Given the description of an element on the screen output the (x, y) to click on. 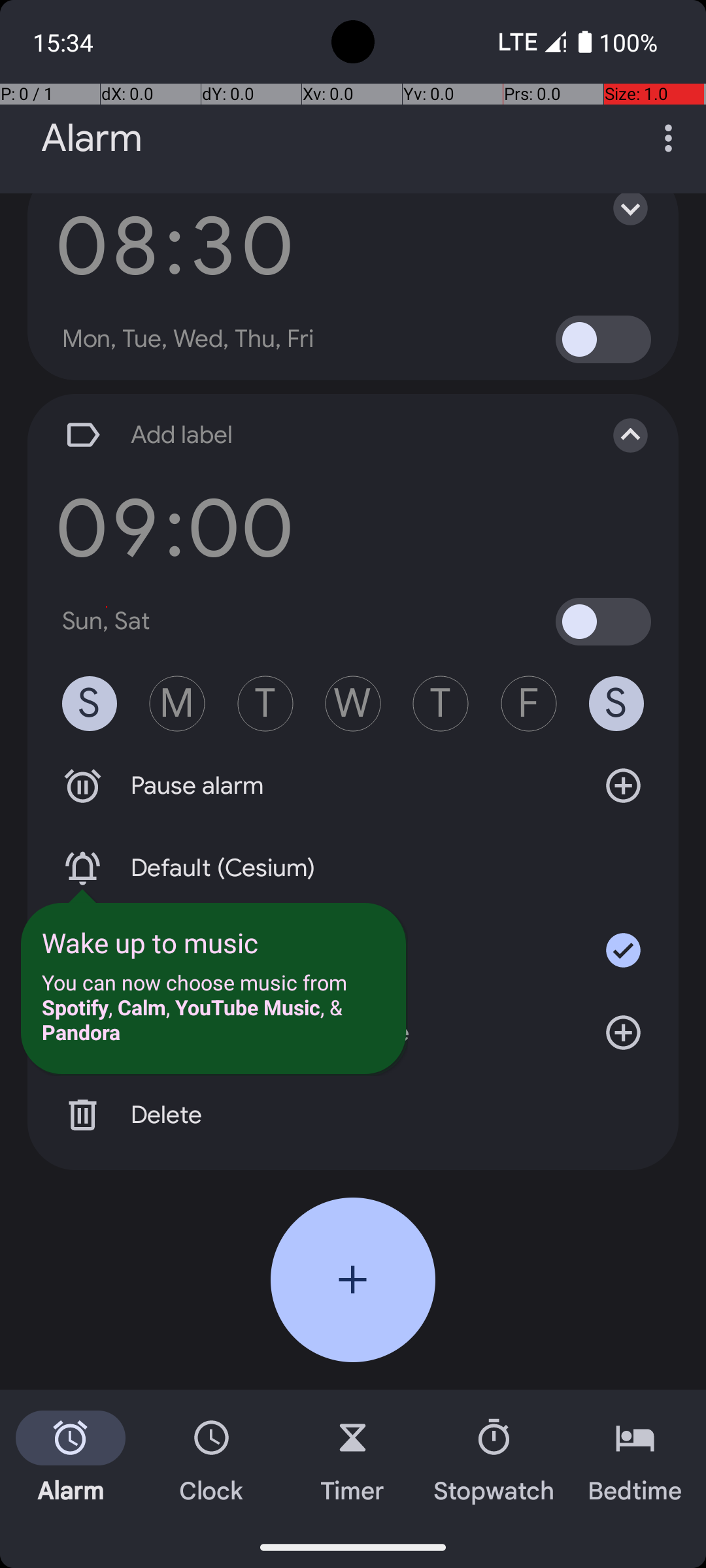
Mon, Tue, Wed, Thu, Fri Element type: android.widget.TextView (187, 338)
Add label Element type: android.widget.TextView (318, 434)
Collapse alarm Element type: android.widget.ImageButton (616, 434)
Sun, Sat Element type: android.widget.TextView (106, 620)
Pause alarm Element type: android.widget.TextView (352, 785)
Default (Cesium) Element type: android.widget.TextView (352, 868)
Vibrate Element type: android.widget.CheckBox (352, 950)
Google Assistant Routine Element type: android.widget.TextView (352, 1032)
Wake up to music Element type: android.widget.TextView (149, 942)
You can now choose music from Spotify, Calm, YouTube Music, & Pandora Element type: android.widget.TextView (213, 1006)
